Given the description of an element on the screen output the (x, y) to click on. 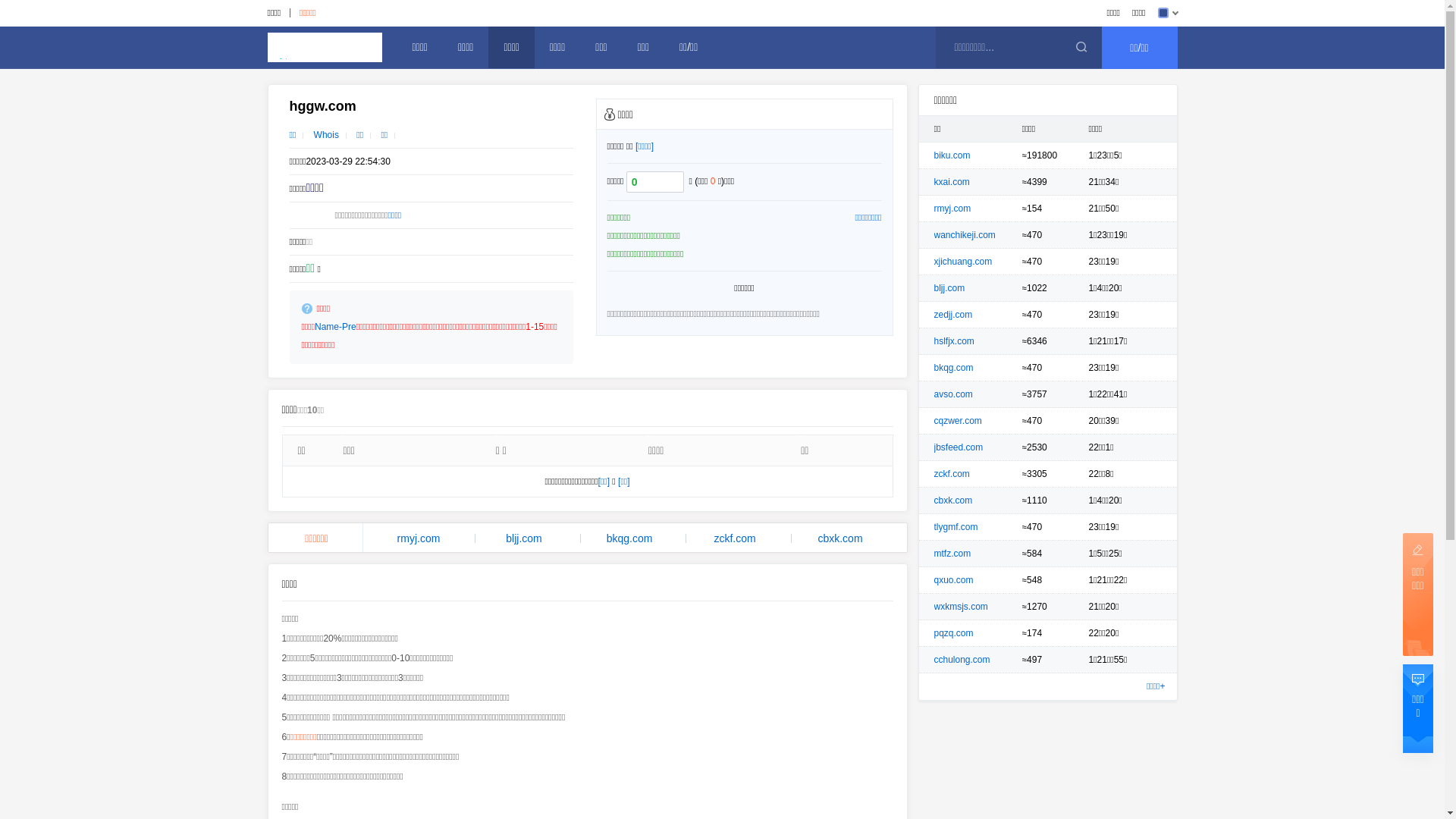
wxkmsjs.com Element type: text (961, 606)
bljj.com Element type: text (524, 538)
Whois Element type: text (326, 134)
cqzwer.com Element type: text (958, 420)
qxuo.com Element type: text (953, 579)
xjichuang.com Element type: text (963, 261)
zckf.com Element type: text (734, 538)
cbxk.com Element type: text (953, 500)
cchulong.com Element type: text (962, 659)
bkqg.com Element type: text (628, 538)
biku.com Element type: text (952, 155)
hslfjx.com Element type: text (954, 340)
wanchikeji.com Element type: text (964, 234)
zckf.com Element type: text (951, 473)
zedjj.com Element type: text (953, 314)
rmyj.com Element type: text (952, 208)
pqzq.com Element type: text (953, 632)
avso.com Element type: text (953, 394)
mtfz.com Element type: text (952, 553)
bkqg.com Element type: text (953, 367)
kxai.com Element type: text (951, 181)
bljj.com Element type: text (949, 287)
cbxk.com Element type: text (839, 538)
tlygmf.com Element type: text (956, 526)
rmyj.com Element type: text (417, 538)
jbsfeed.com Element type: text (958, 447)
Name-Pre Element type: text (335, 326)
